Given the description of an element on the screen output the (x, y) to click on. 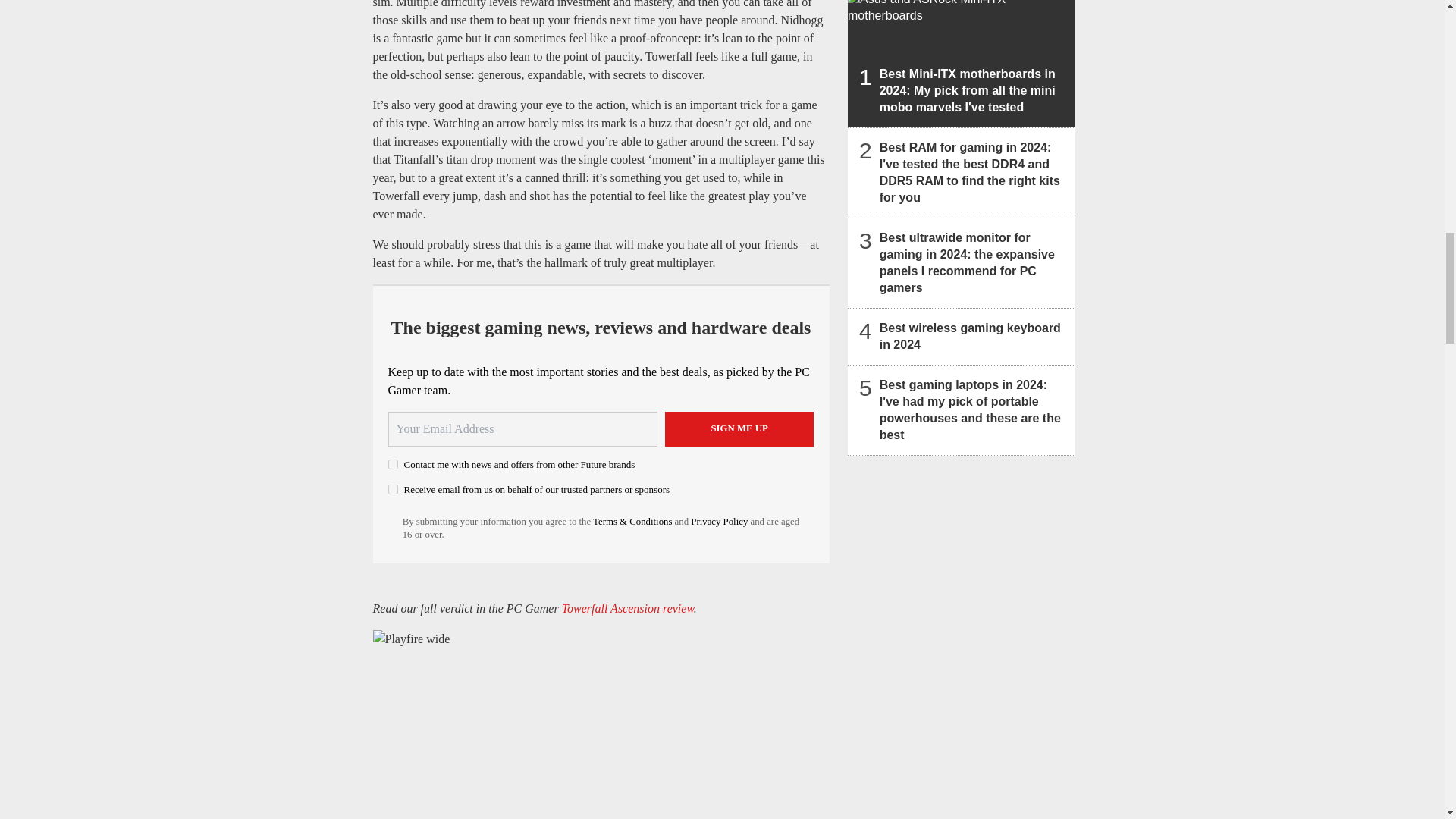
on (392, 489)
on (392, 464)
Sign me up (739, 428)
